Given the description of an element on the screen output the (x, y) to click on. 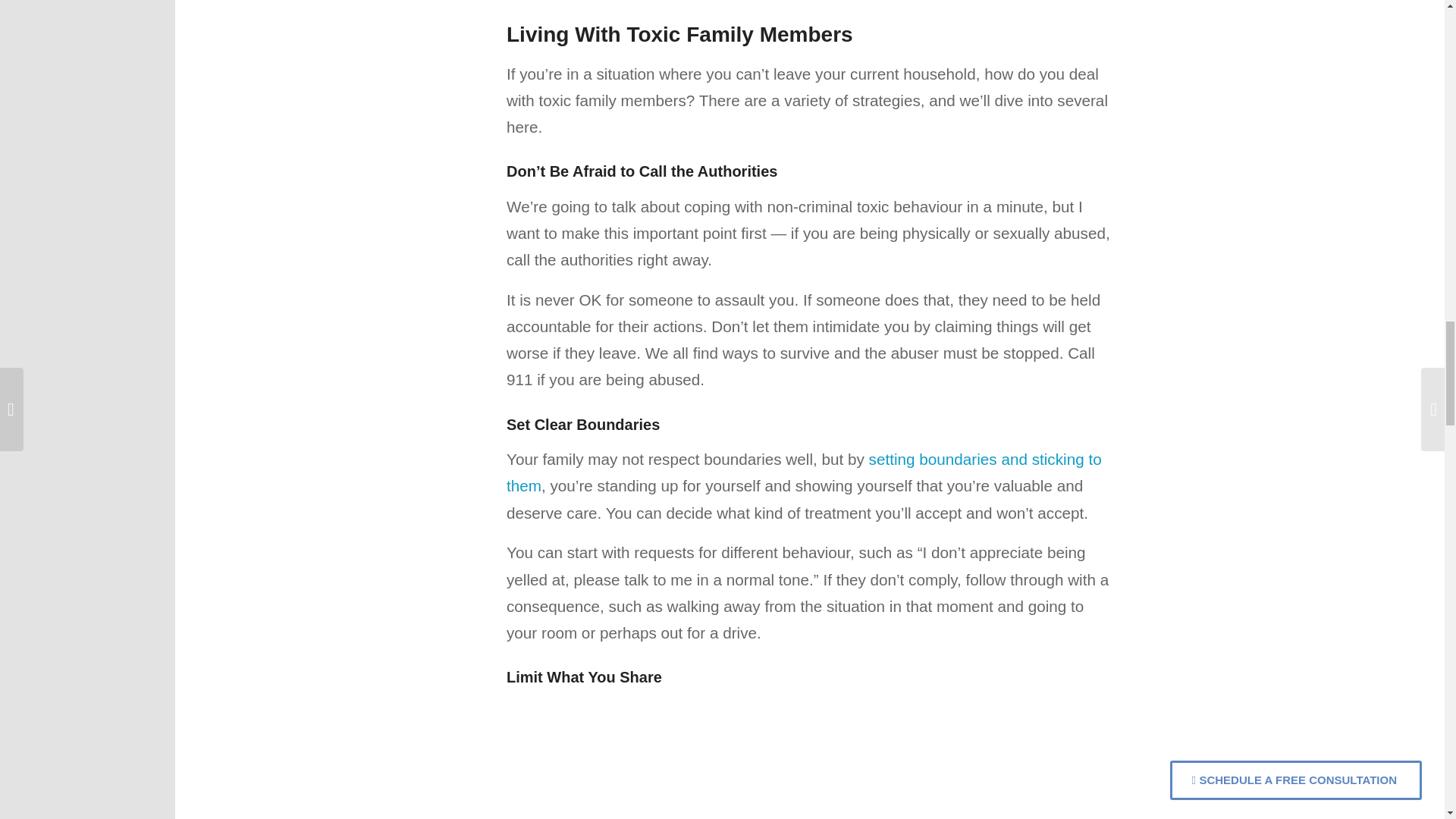
setting boundaries and sticking to them (804, 472)
